Given the description of an element on the screen output the (x, y) to click on. 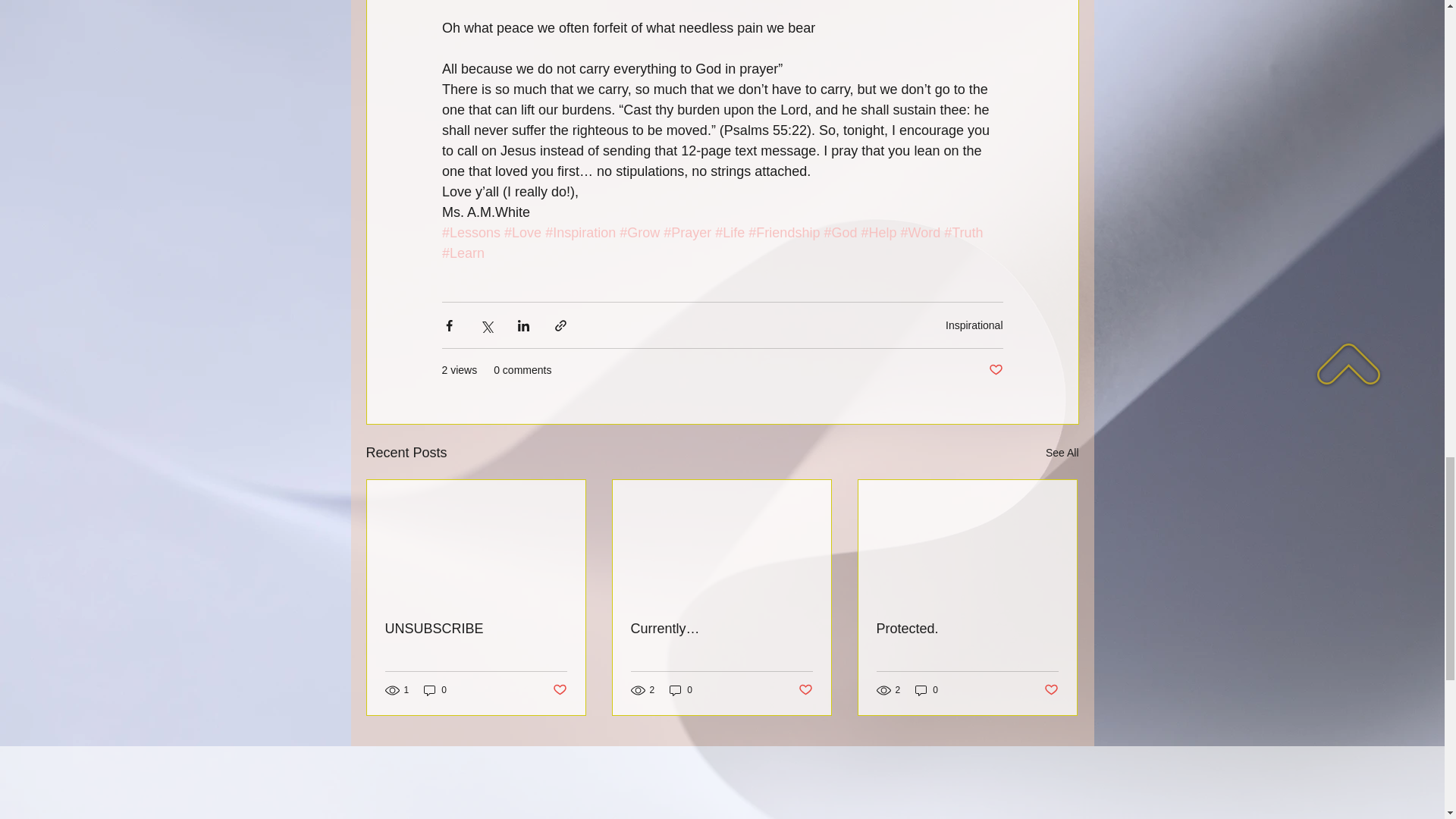
UNSUBSCRIBE (476, 628)
Post not marked as liked (1050, 690)
Post not marked as liked (995, 370)
Protected. (967, 628)
0 (926, 689)
Post not marked as liked (558, 690)
See All (1061, 453)
0 (681, 689)
0 (435, 689)
Inspirational (973, 324)
Post not marked as liked (804, 690)
